Given the description of an element on the screen output the (x, y) to click on. 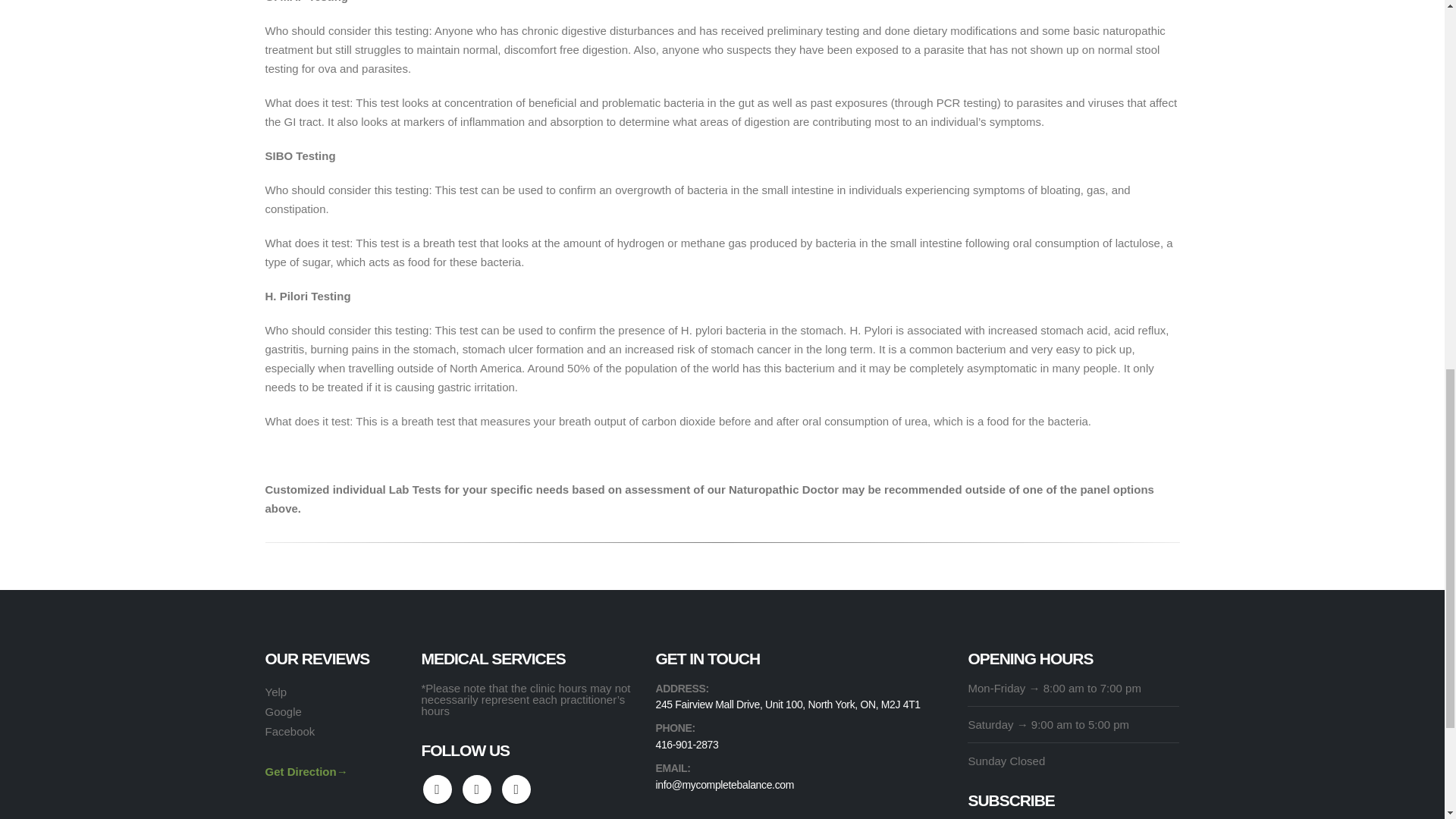
Youtube (477, 788)
Instagram (516, 788)
Facebook (437, 788)
